Given the description of an element on the screen output the (x, y) to click on. 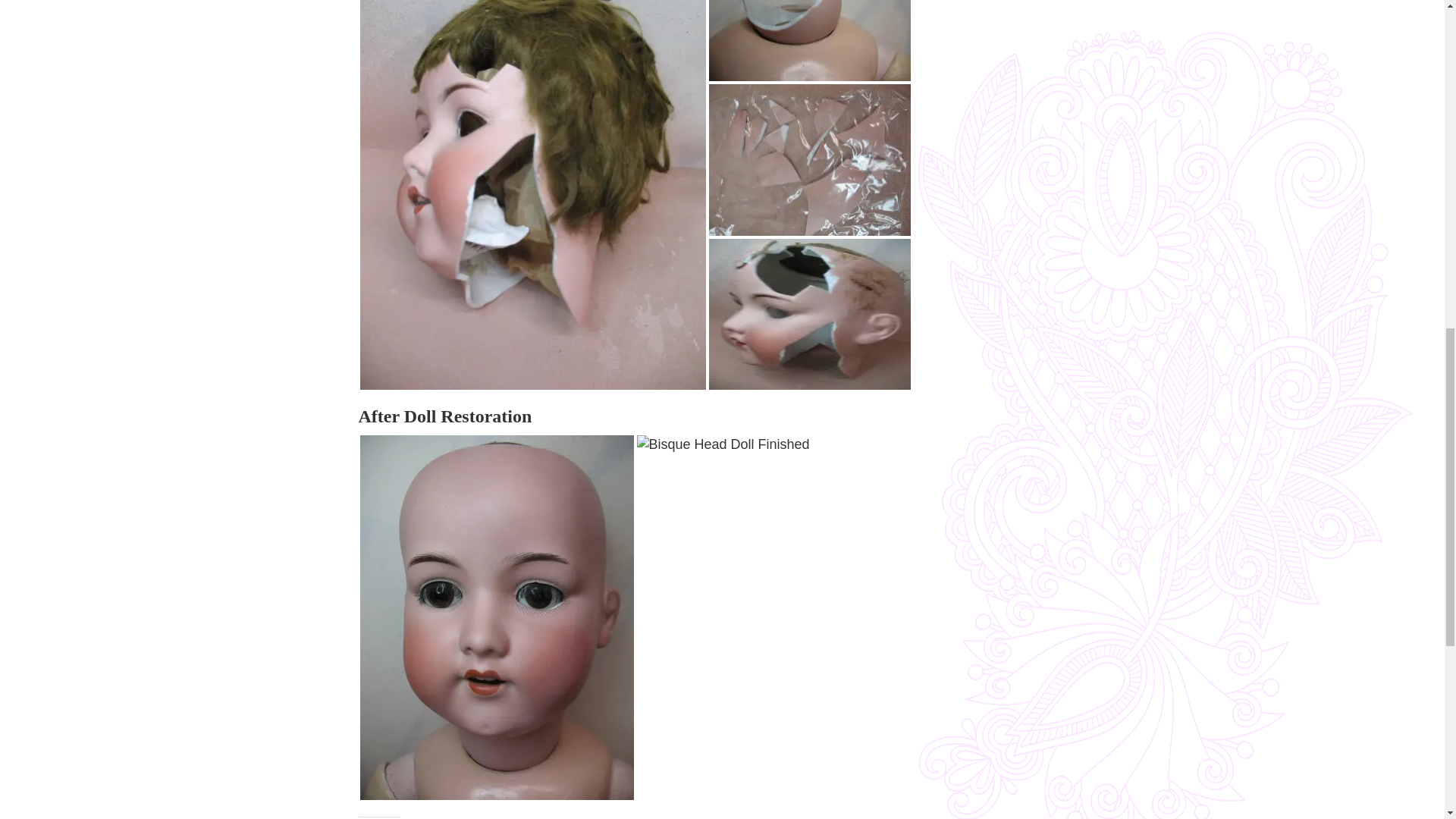
Bisque Head Doll Pieces (808, 159)
Bisque Head Doll Pieces (808, 314)
Bisque Head Doll Piece (808, 40)
